Given the description of an element on the screen output the (x, y) to click on. 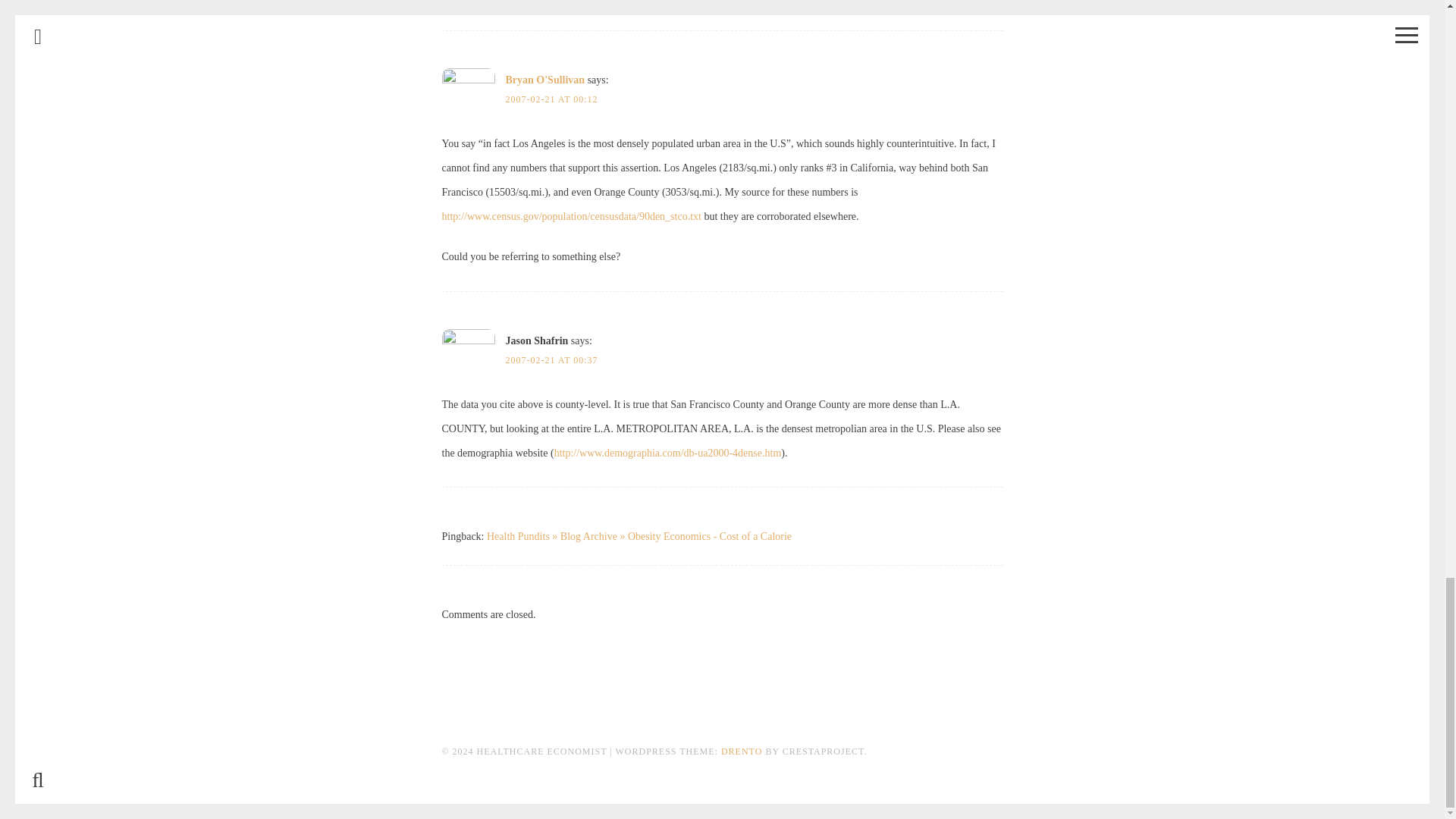
2007-02-21 AT 00:12 (550, 99)
Bryan O'Sullivan (545, 79)
2007-02-21 AT 00:37 (550, 359)
